Given the description of an element on the screen output the (x, y) to click on. 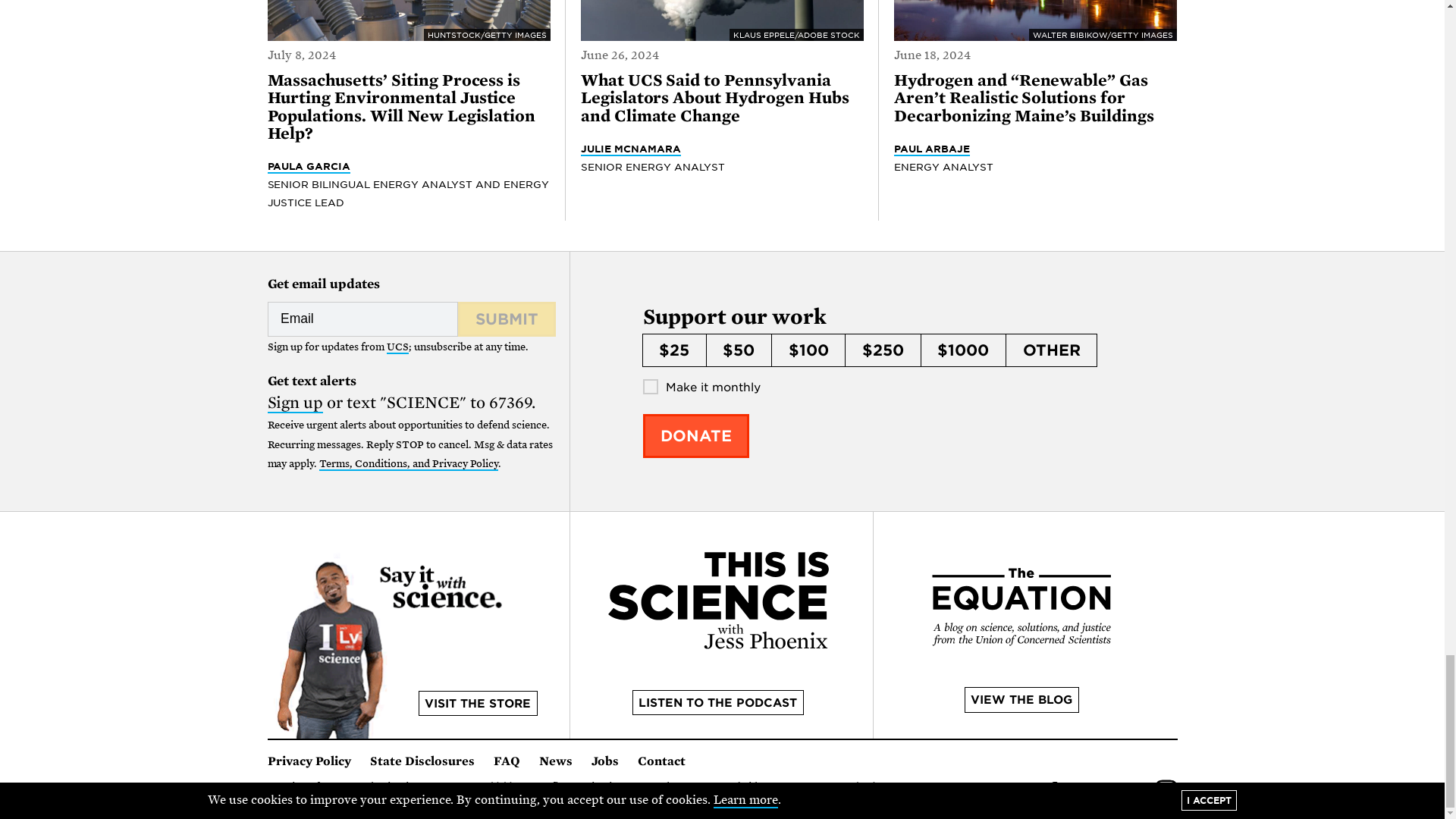
JULIE MCNAMARA (630, 149)
Donate Online (696, 435)
PAULA GARCIA (308, 166)
Submit (507, 319)
